Given the description of an element on the screen output the (x, y) to click on. 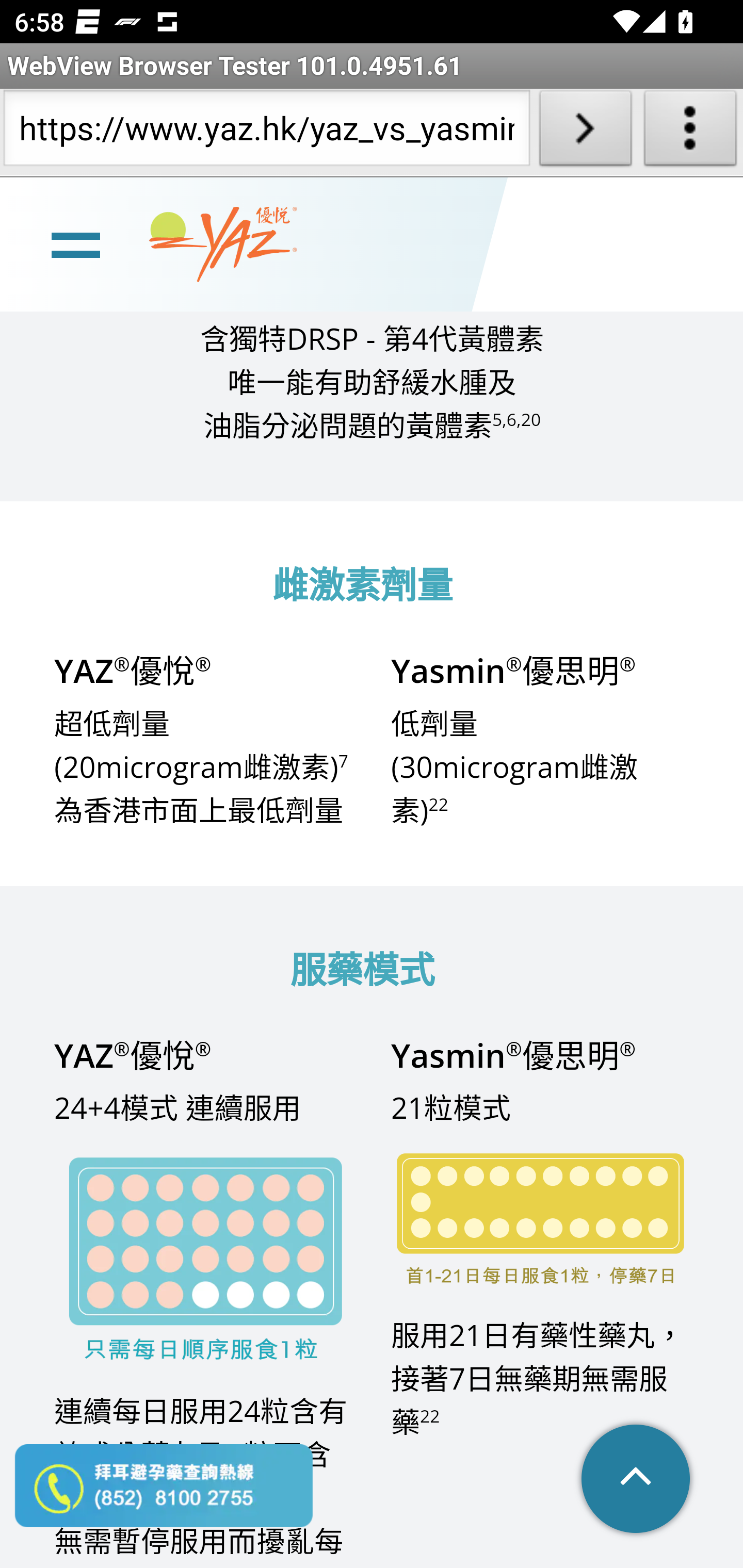
Load URL (585, 132)
About WebView (690, 132)
www.yaz (222, 245)
line Toggle burger menu (75, 245)
 (636, 1481)
